Given the description of an element on the screen output the (x, y) to click on. 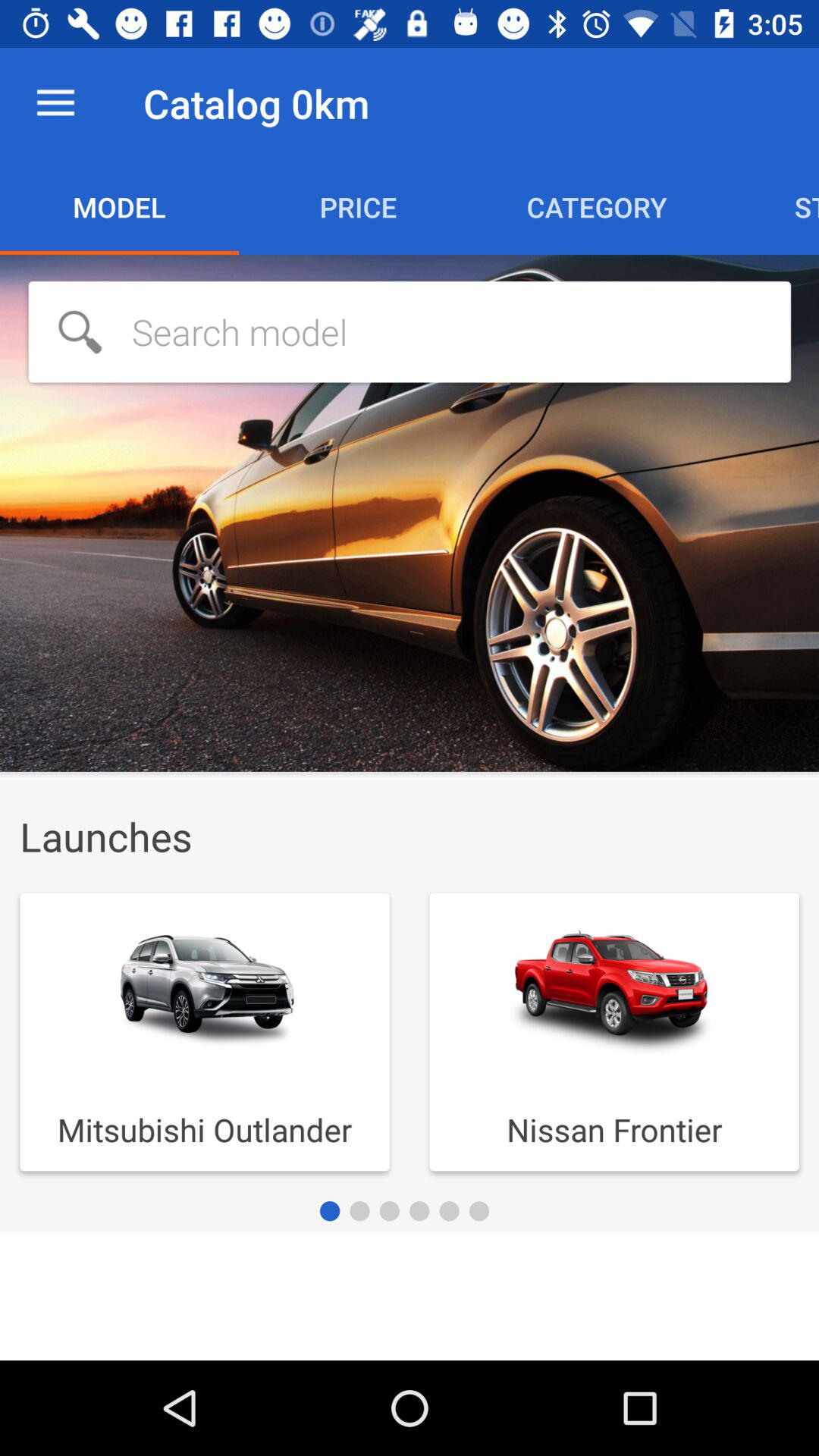
choose item above model icon (55, 103)
